Given the description of an element on the screen output the (x, y) to click on. 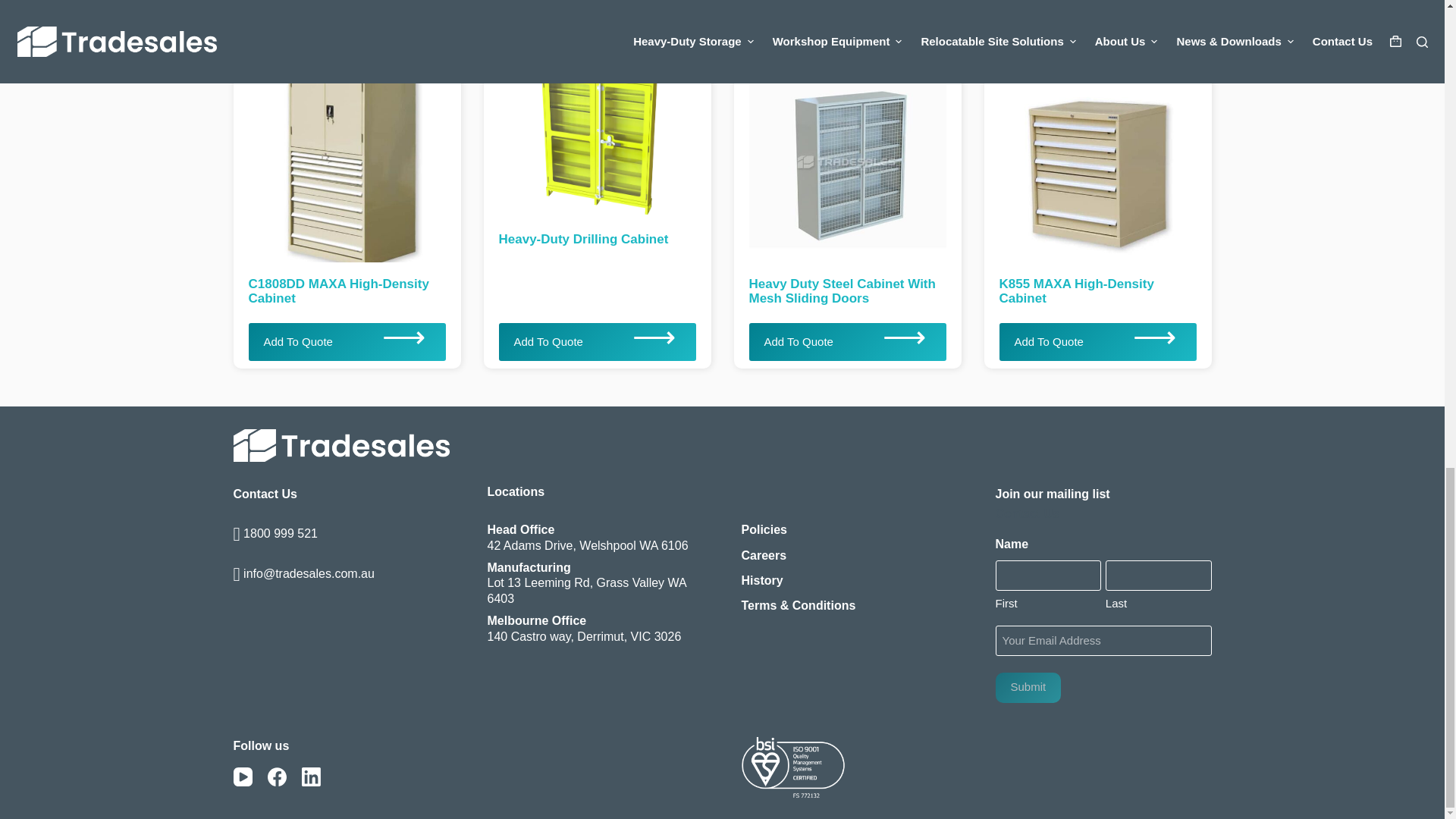
15953-F (586, 133)
Submit (1027, 687)
K855-MAXA-high-density-storage-module.jpg (1087, 153)
13592-WO-21925-FULL-ASSY.jpg (837, 153)
